Given the description of an element on the screen output the (x, y) to click on. 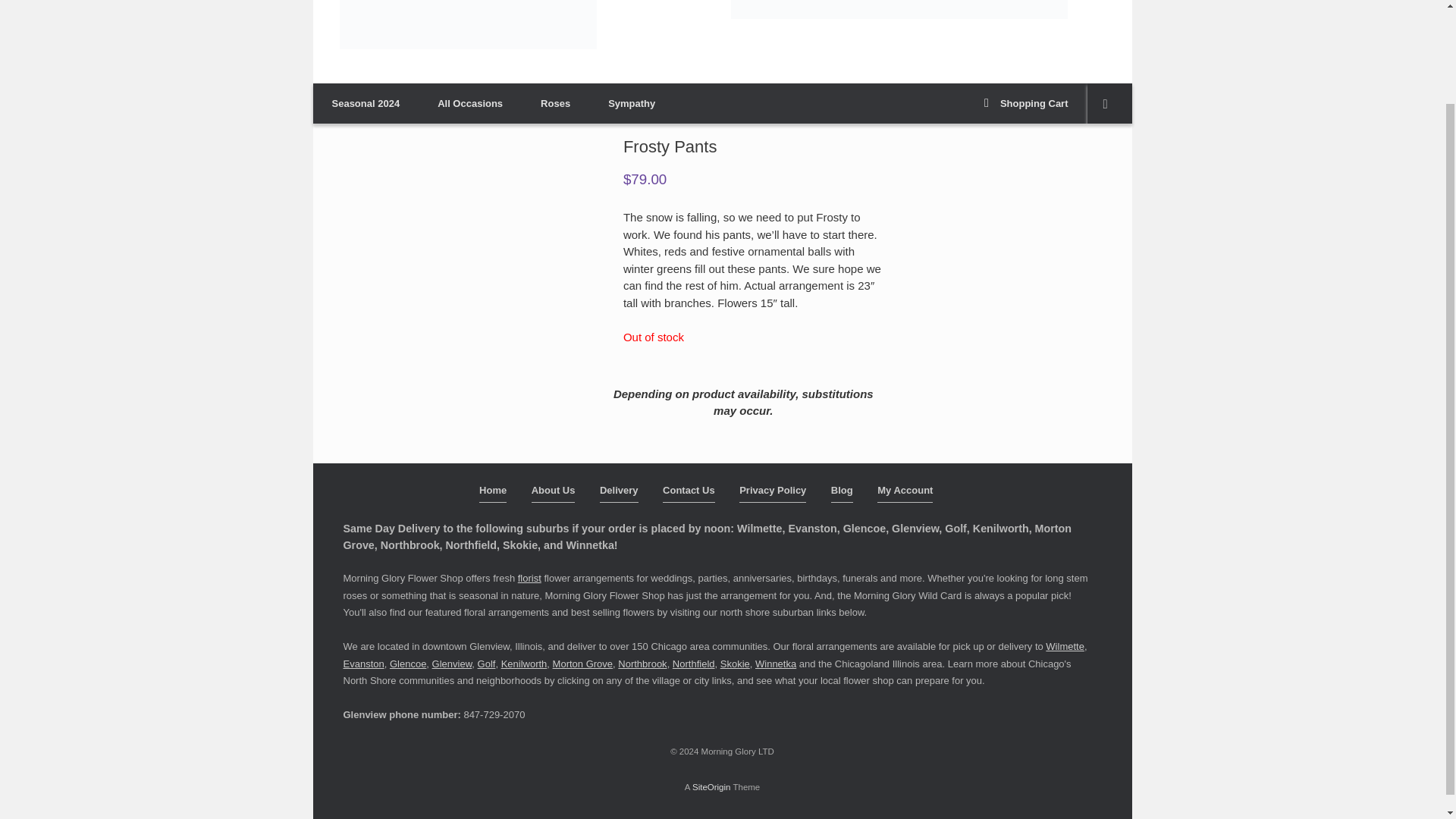
Skokie (734, 663)
Fresh Flower Arrangements (898, 9)
Privacy Policy (772, 492)
Wilmette (1064, 645)
Morning Glory Flower Shop (467, 24)
SiteOrigin (711, 786)
Contact Us (688, 492)
Golf (486, 663)
Delivery (619, 492)
Morton Grove (582, 663)
Seasonal 2024 (366, 103)
florist (529, 577)
Roses (555, 103)
Blog (842, 492)
Northfield (693, 663)
